Given the description of an element on the screen output the (x, y) to click on. 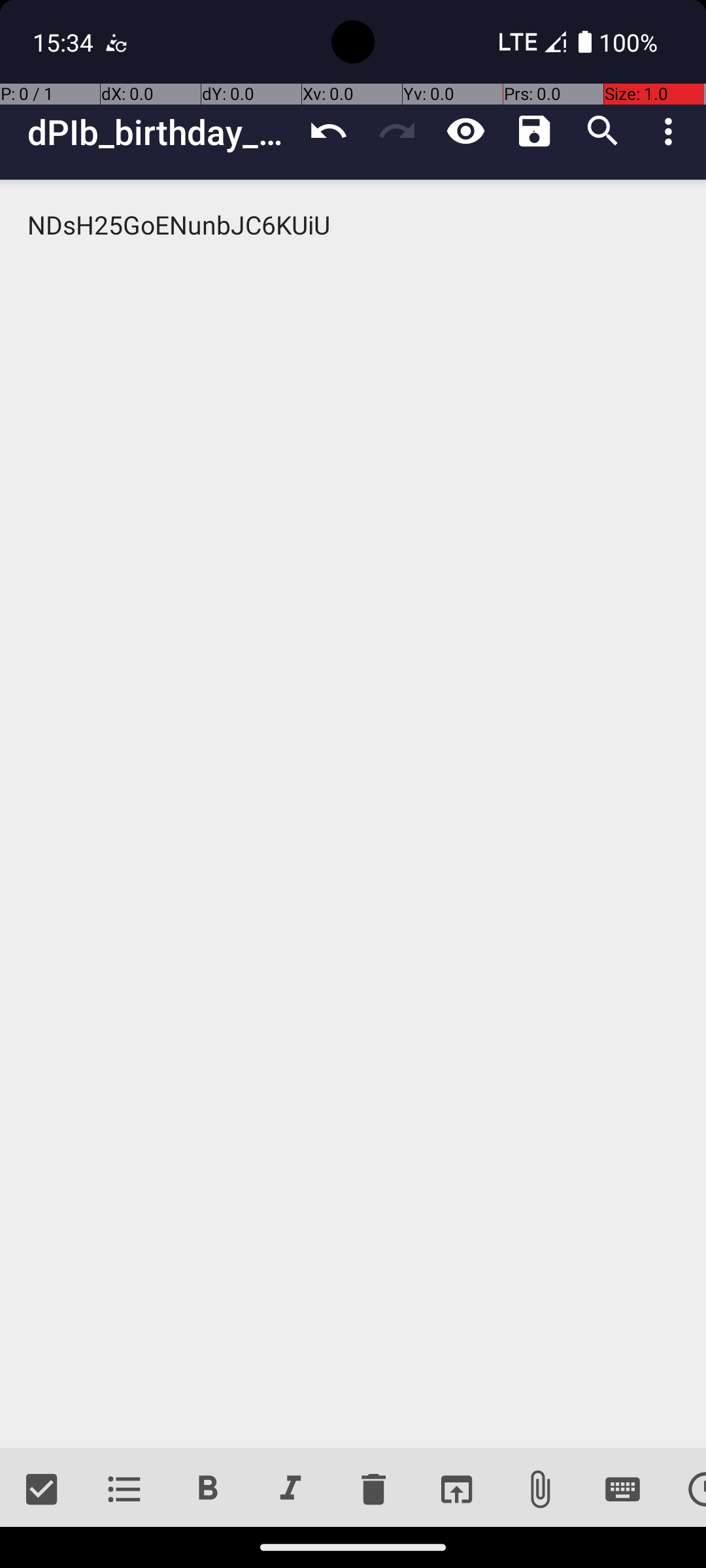
dPIb_birthday_gift_ideas_mom Element type: android.widget.TextView (160, 131)
NDsH25GoENunbJC6KUiU Element type: android.widget.EditText (353, 813)
